Given the description of an element on the screen output the (x, y) to click on. 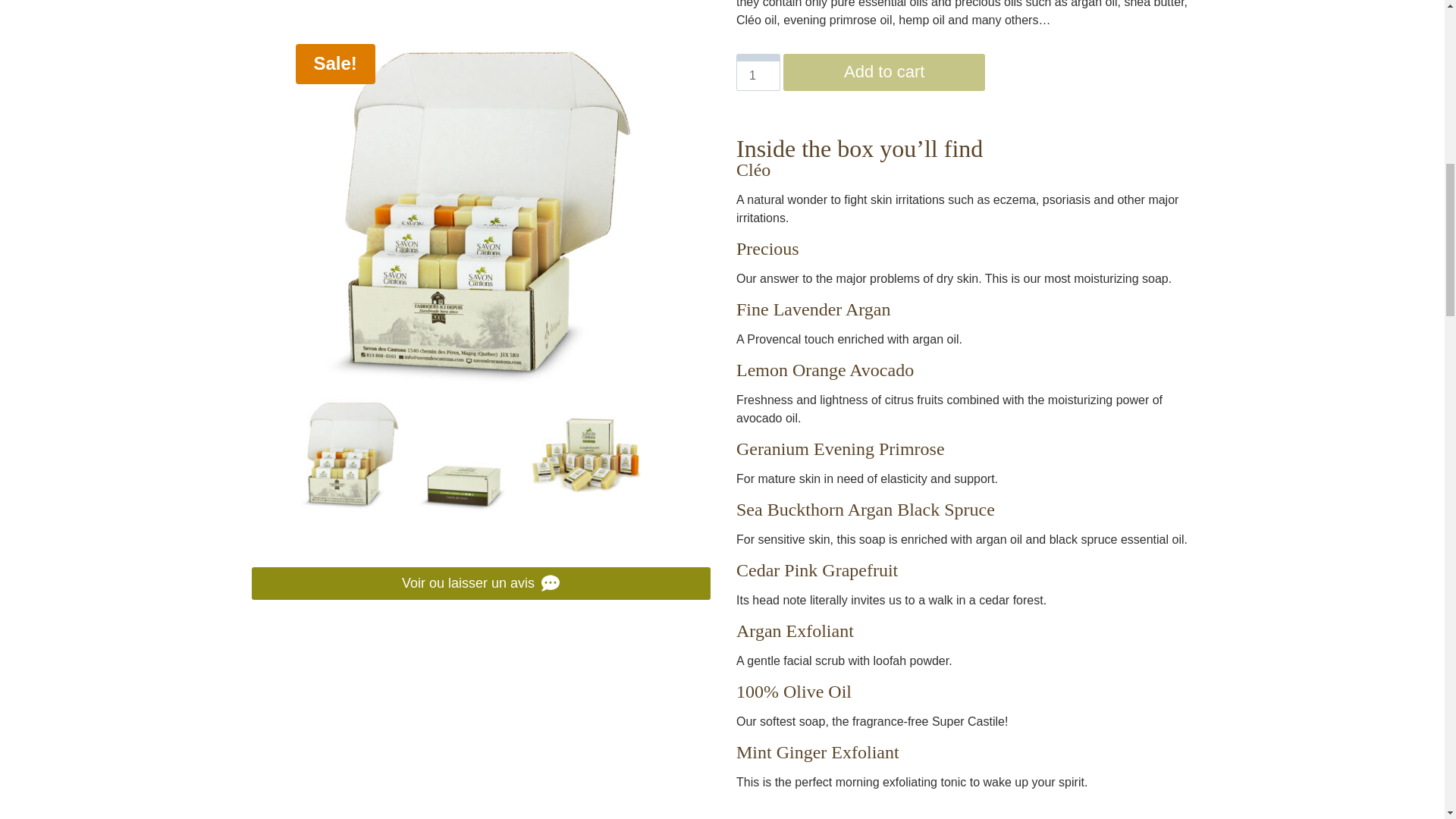
1 (758, 72)
